Given the description of an element on the screen output the (x, y) to click on. 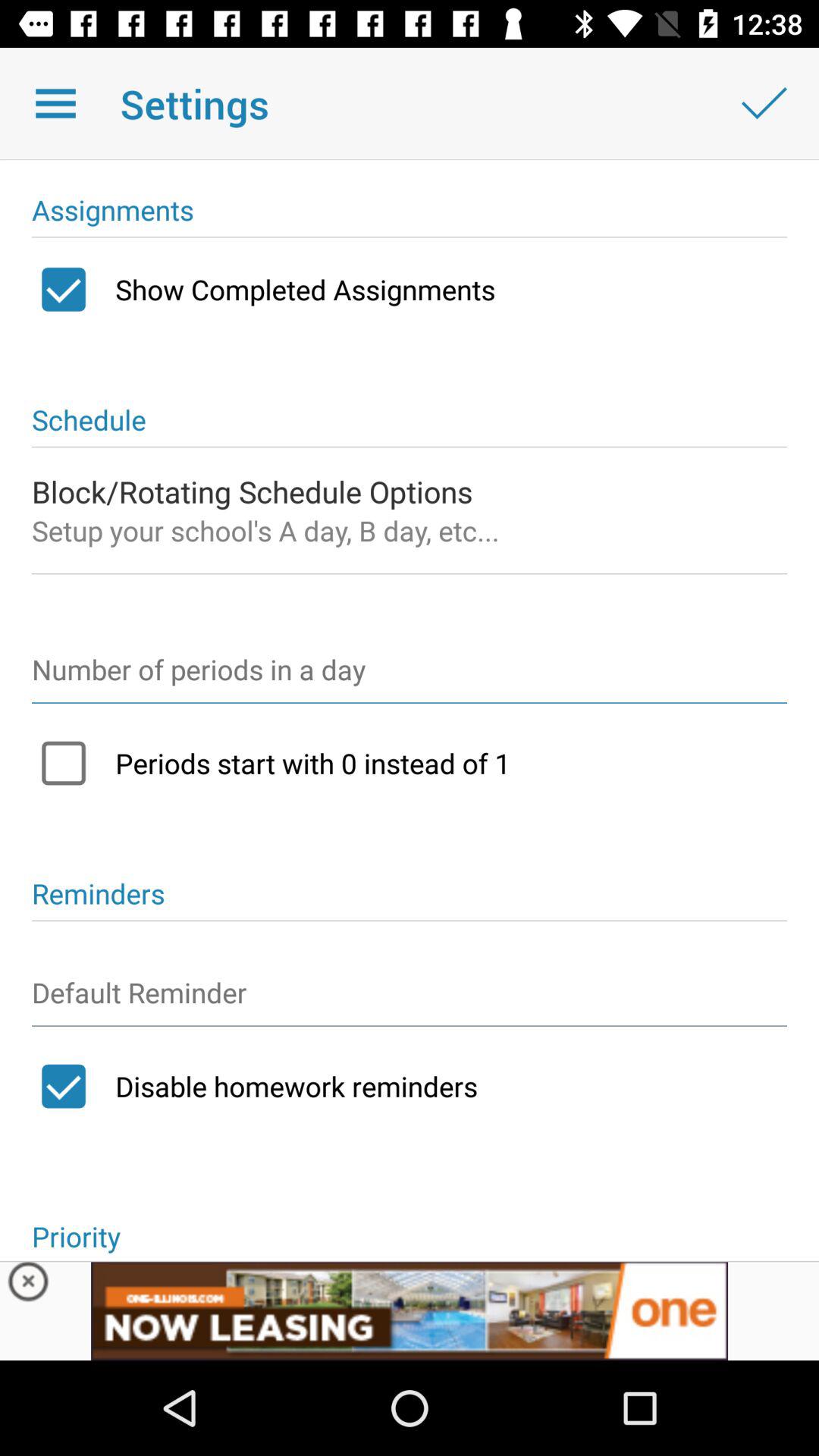
insert text (409, 999)
